Given the description of an element on the screen output the (x, y) to click on. 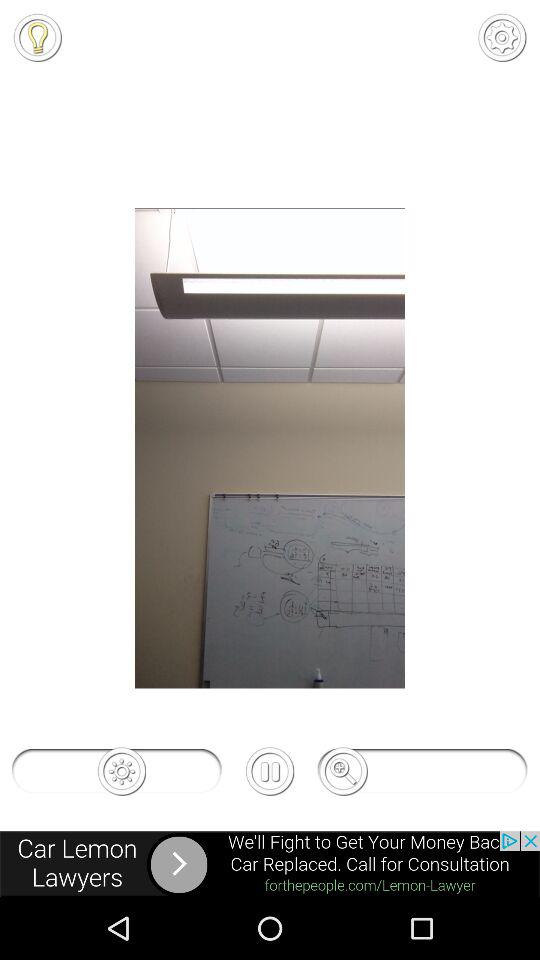
open lighting (37, 37)
